Given the description of an element on the screen output the (x, y) to click on. 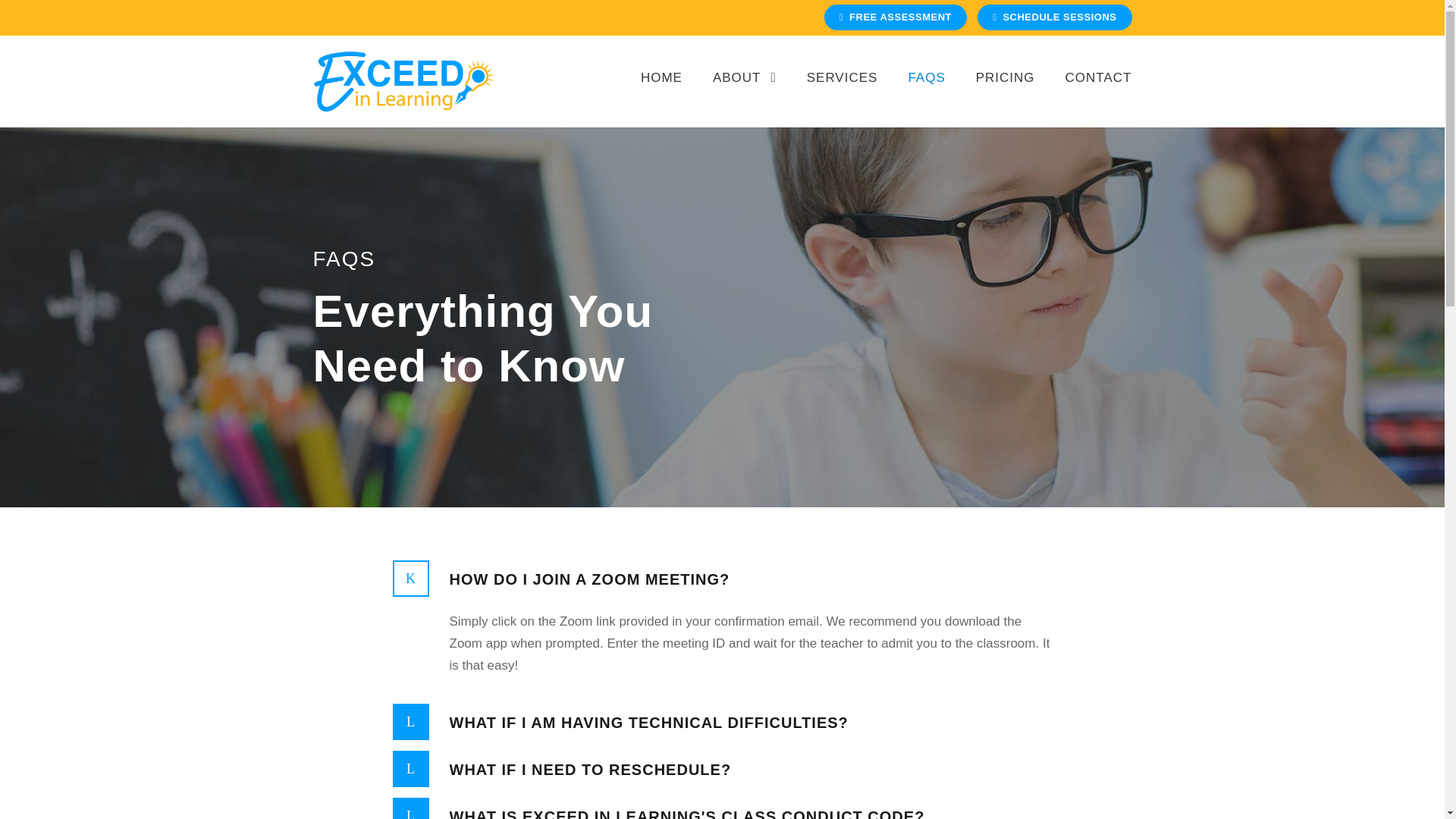
PRICING (1005, 94)
ABOUT (744, 94)
FREE ASSESSMENT (895, 17)
Exceed In Learning (404, 81)
CONTACT (1098, 94)
SERVICES (841, 94)
SCHEDULE SESSIONS (1053, 17)
